Given the description of an element on the screen output the (x, y) to click on. 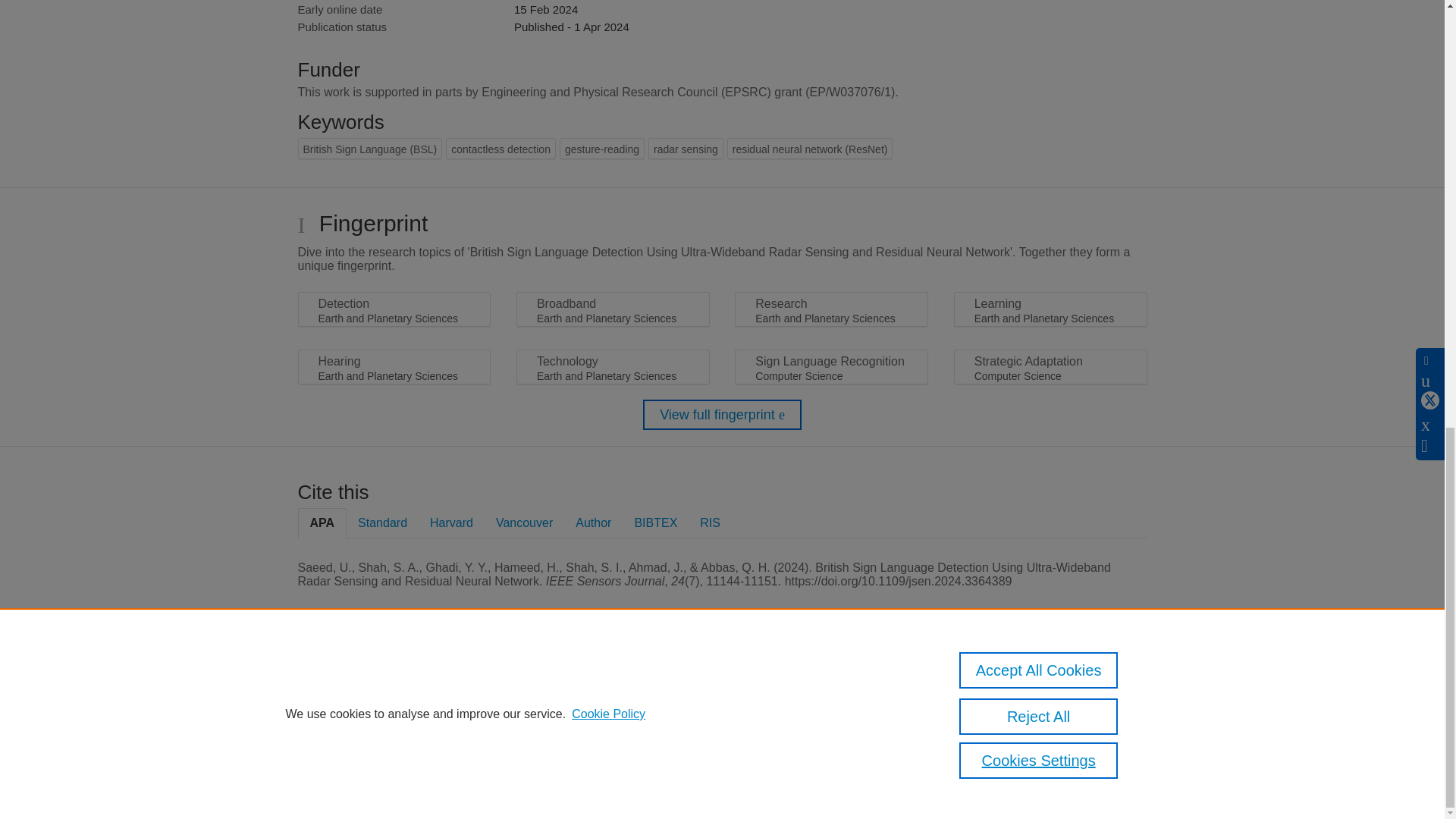
View full fingerprint (722, 414)
